Given the description of an element on the screen output the (x, y) to click on. 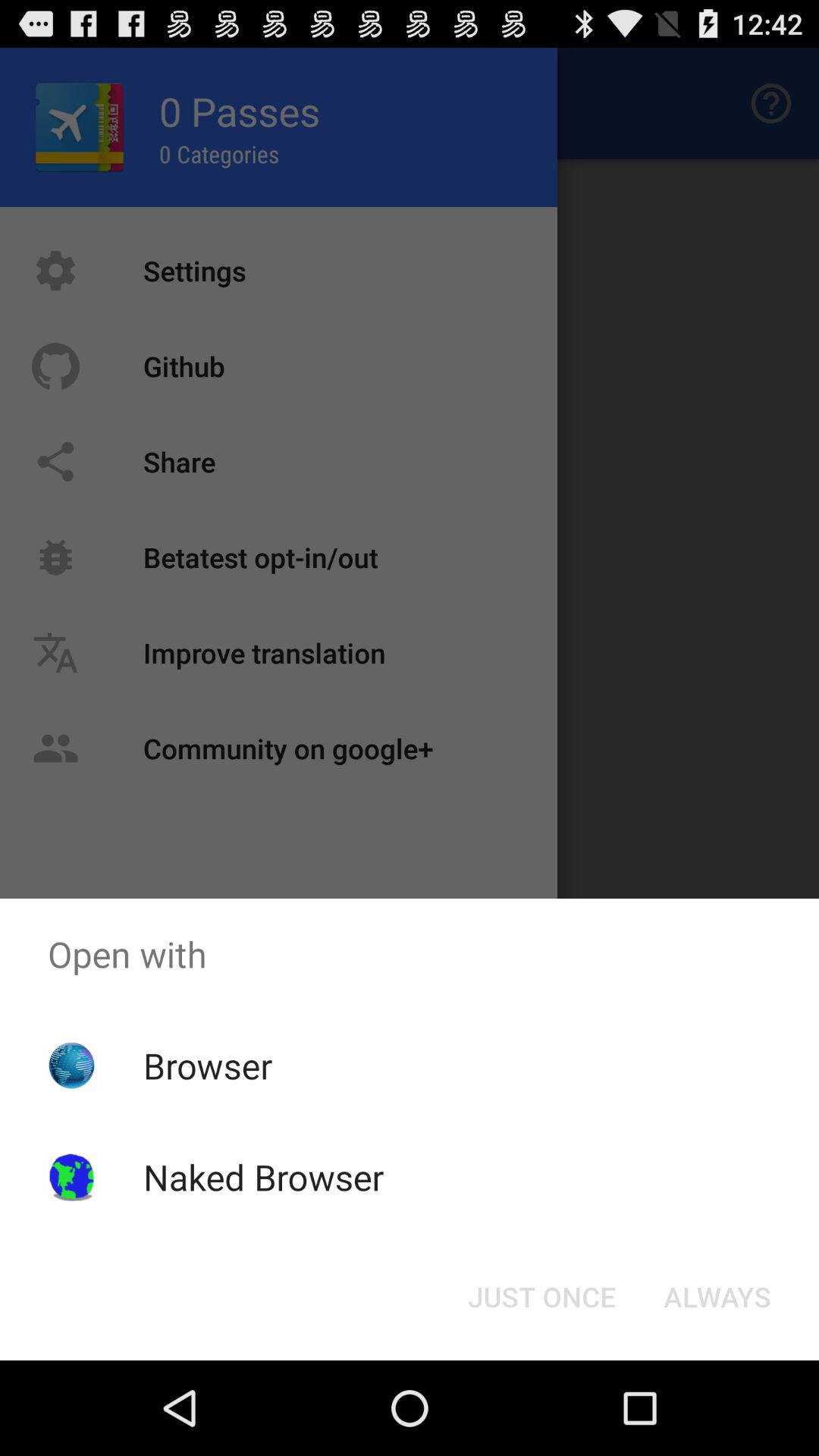
click button next to the always button (541, 1296)
